Given the description of an element on the screen output the (x, y) to click on. 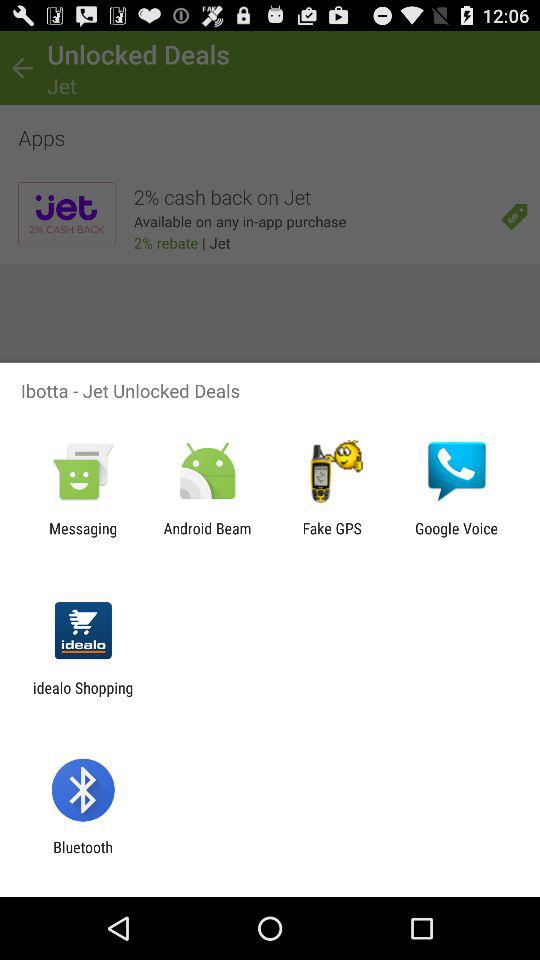
turn off the item to the right of the messaging item (207, 537)
